Given the description of an element on the screen output the (x, y) to click on. 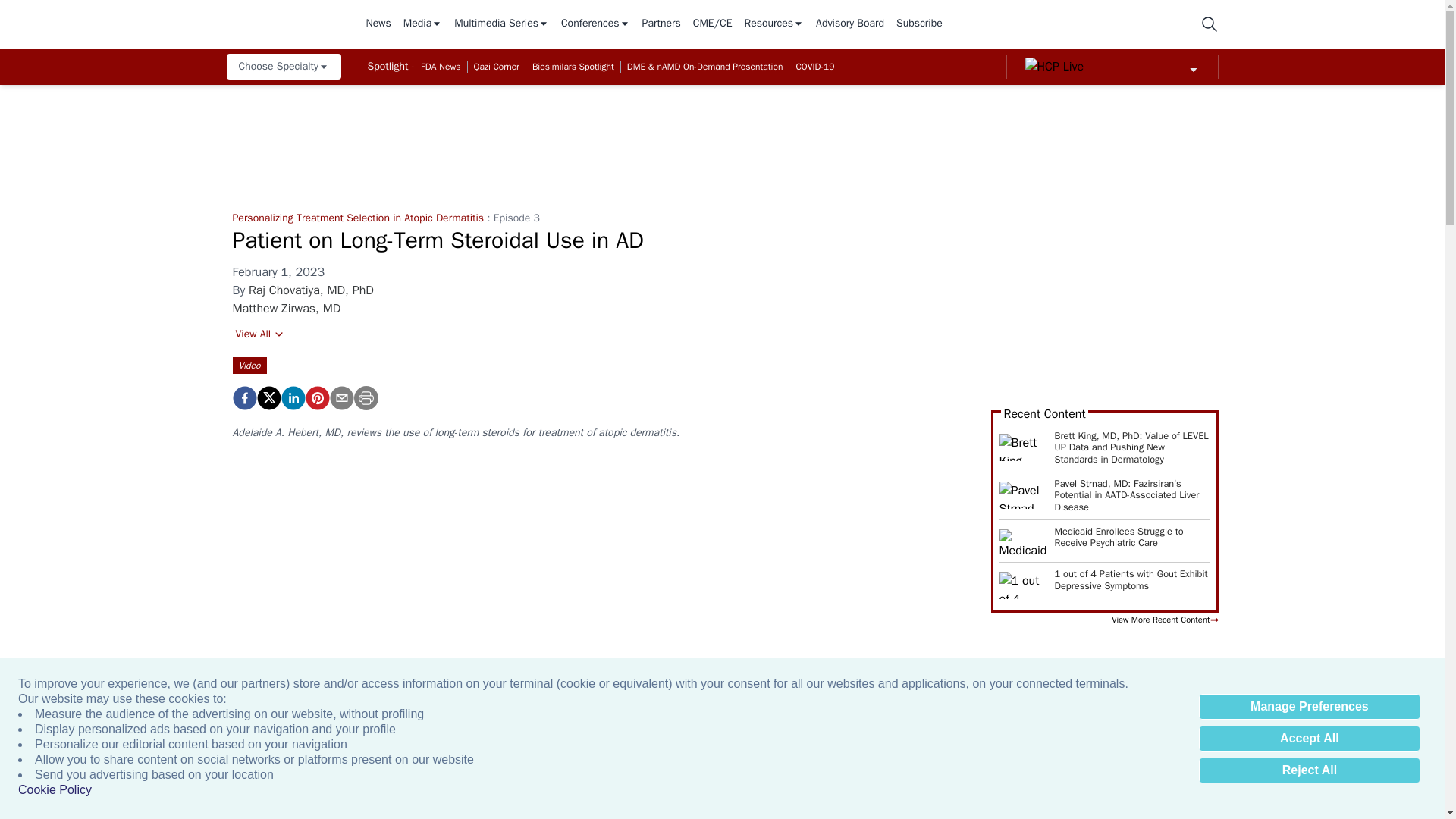
Resources (773, 23)
Conferences (595, 23)
Media (422, 23)
Accept All (1309, 738)
Multimedia Series (501, 23)
Cookie Policy (54, 789)
Patient on Long-Term Steroidal Use in AD (316, 397)
Patient on Long-Term Steroidal Use in AD (243, 397)
News (377, 23)
Manage Preferences (1309, 706)
Reject All (1309, 769)
Partners (661, 23)
Advisory Board (849, 23)
